Given the description of an element on the screen output the (x, y) to click on. 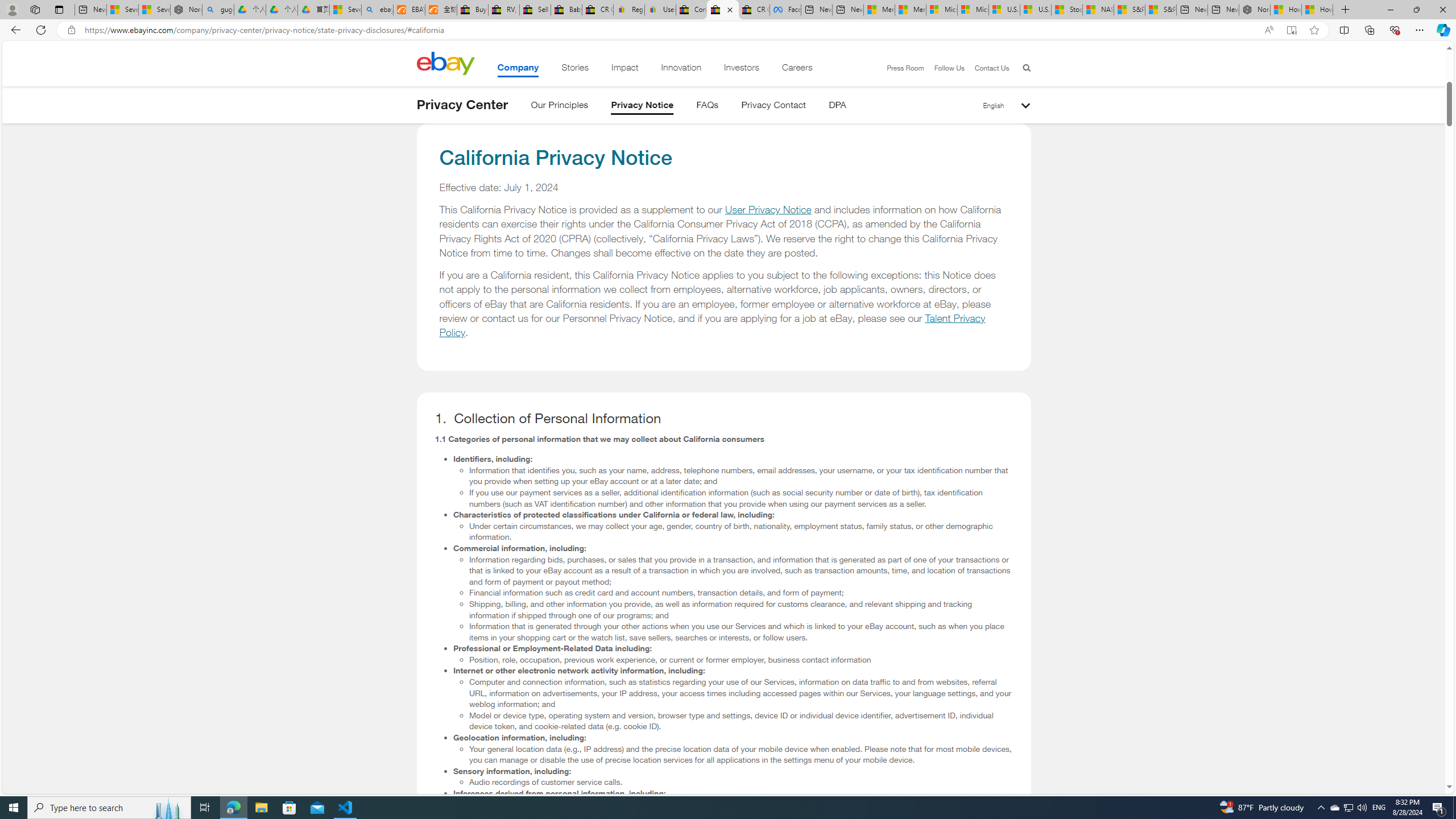
Privacy Center (462, 104)
